Given the description of an element on the screen output the (x, y) to click on. 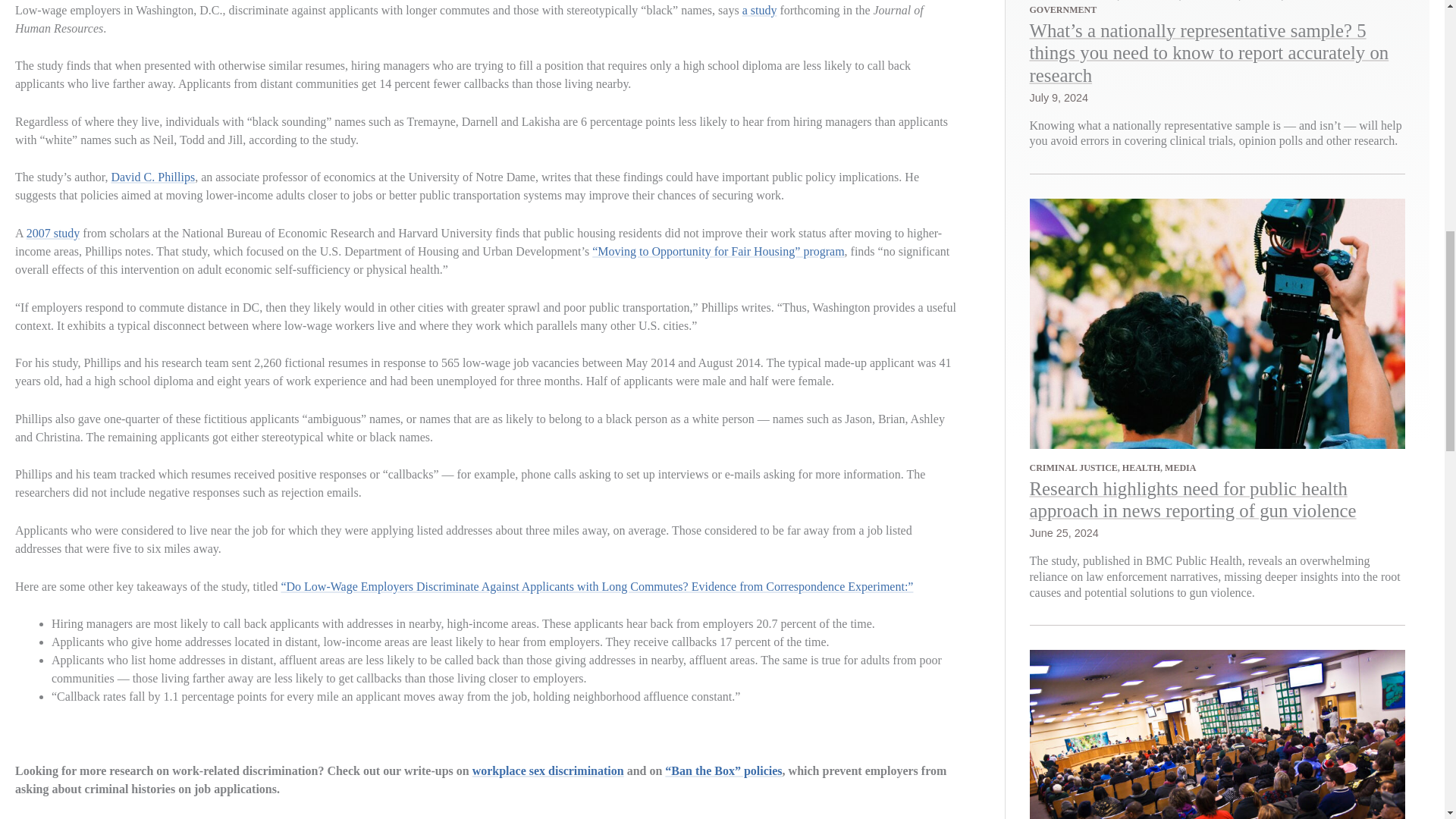
School board elections in the US: What research shows (1229, 773)
